Given the description of an element on the screen output the (x, y) to click on. 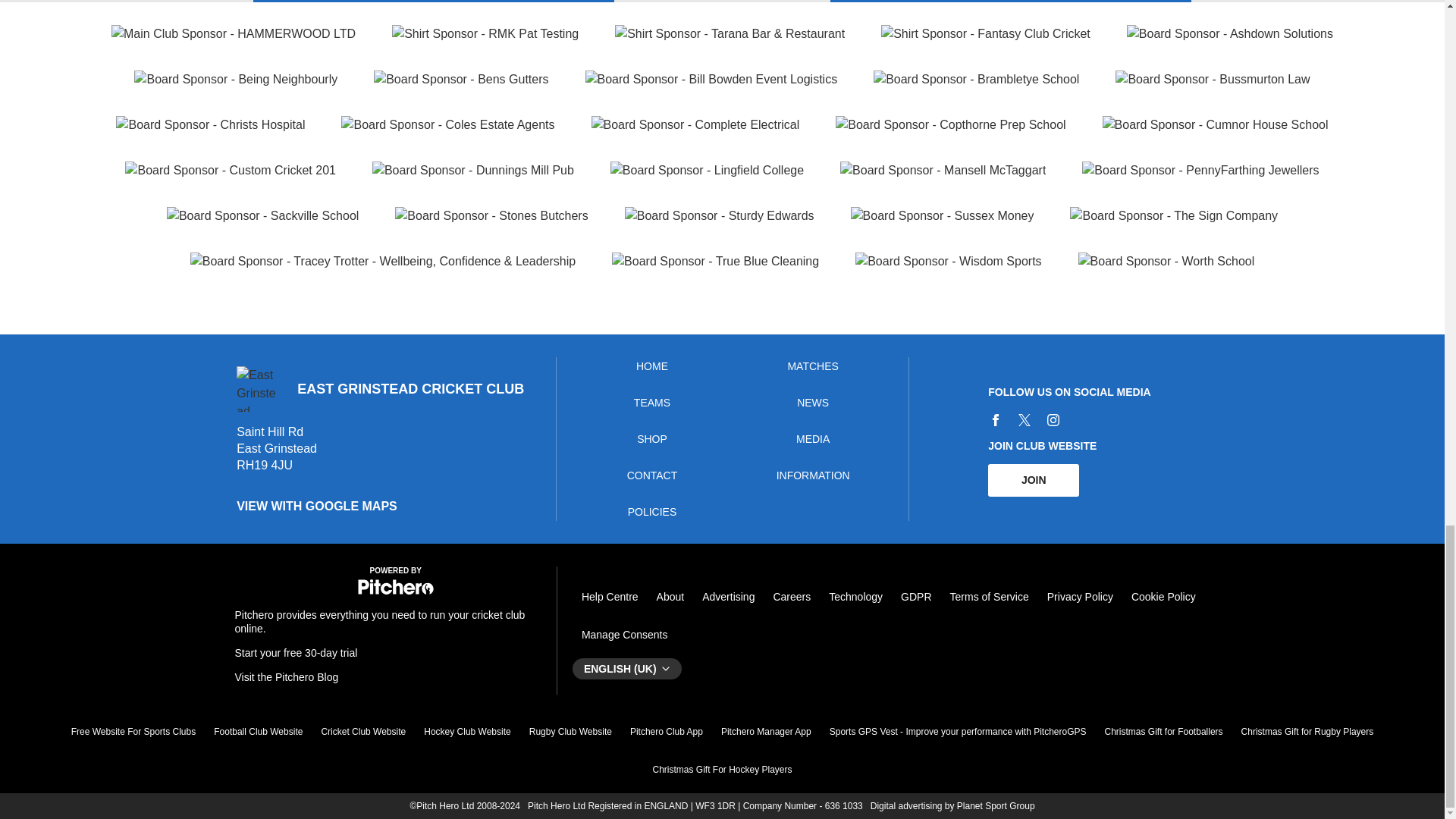
Board Sponsor - Bens Gutters (461, 79)
Board Sponsor - Being Neighbourly (235, 79)
Board Sponsor - Bussmurton Law (1211, 79)
Board Sponsor - Bill Bowden Event Logistics (711, 79)
Board Sponsor - Coles Estate Agents (447, 125)
Board Sponsor - Brambletye School (975, 79)
Shirt Sponsor - Fantasy Club Cricket (985, 34)
Main Club Sponsor - HAMMERWOOD LTD (233, 34)
Board Sponsor - Christs Hospital (210, 125)
Board Sponsor - Ashdown Solutions (1229, 34)
